Given the description of an element on the screen output the (x, y) to click on. 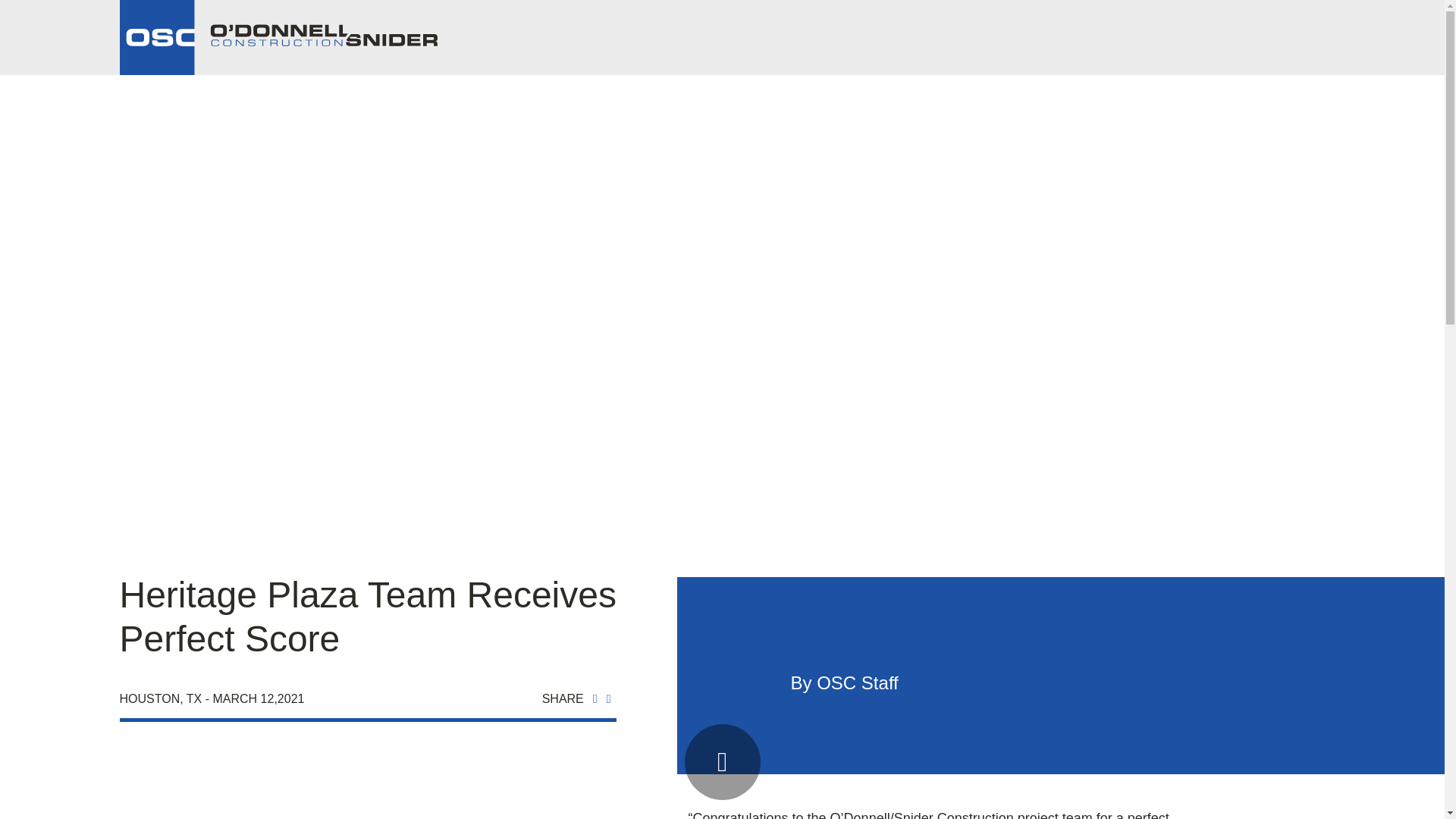
OSC (278, 37)
